Given the description of an element on the screen output the (x, y) to click on. 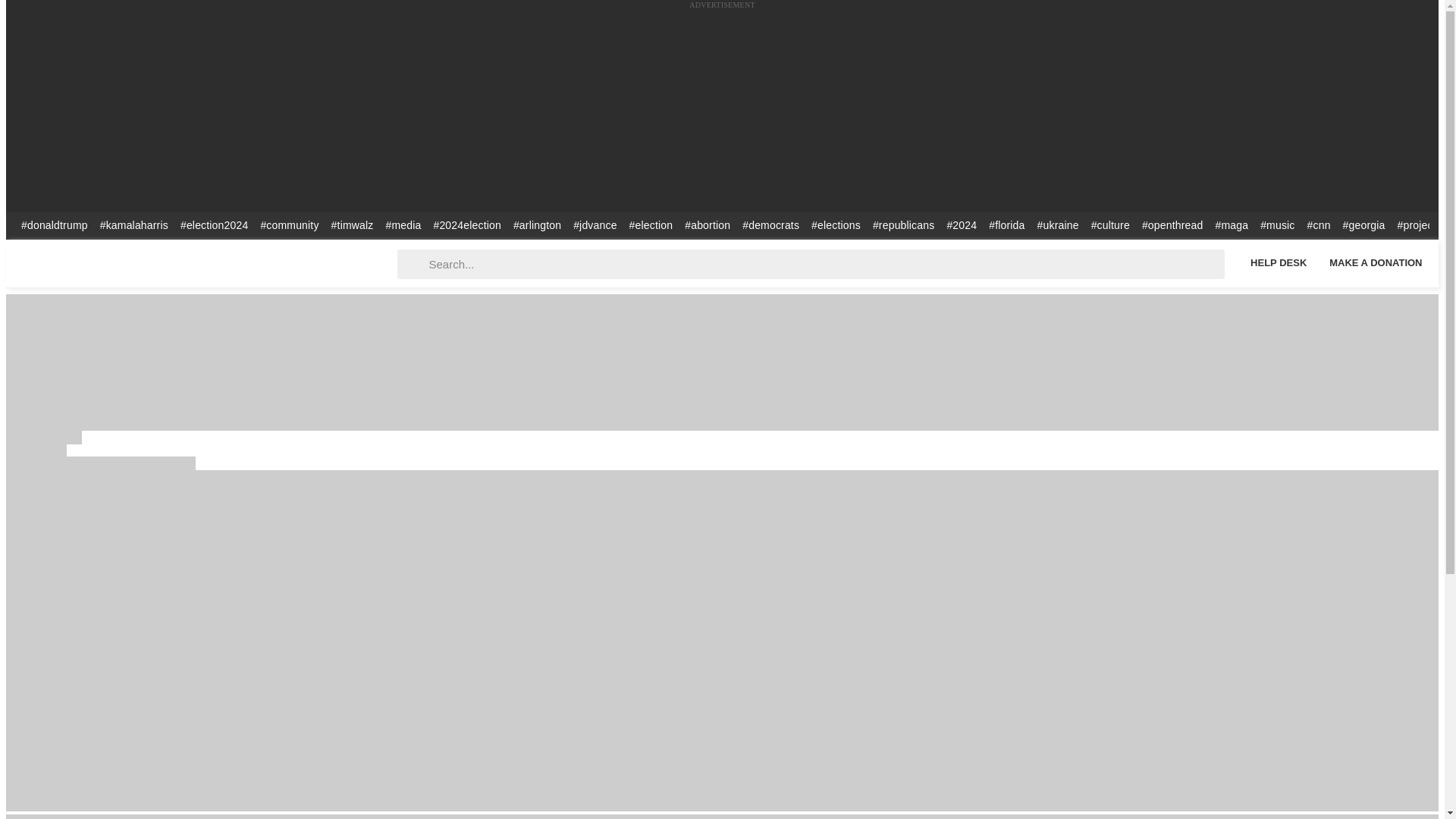
Help Desk (1277, 262)
MAKE A DONATION (1375, 262)
Make a Donation (1375, 262)
